Given the description of an element on the screen output the (x, y) to click on. 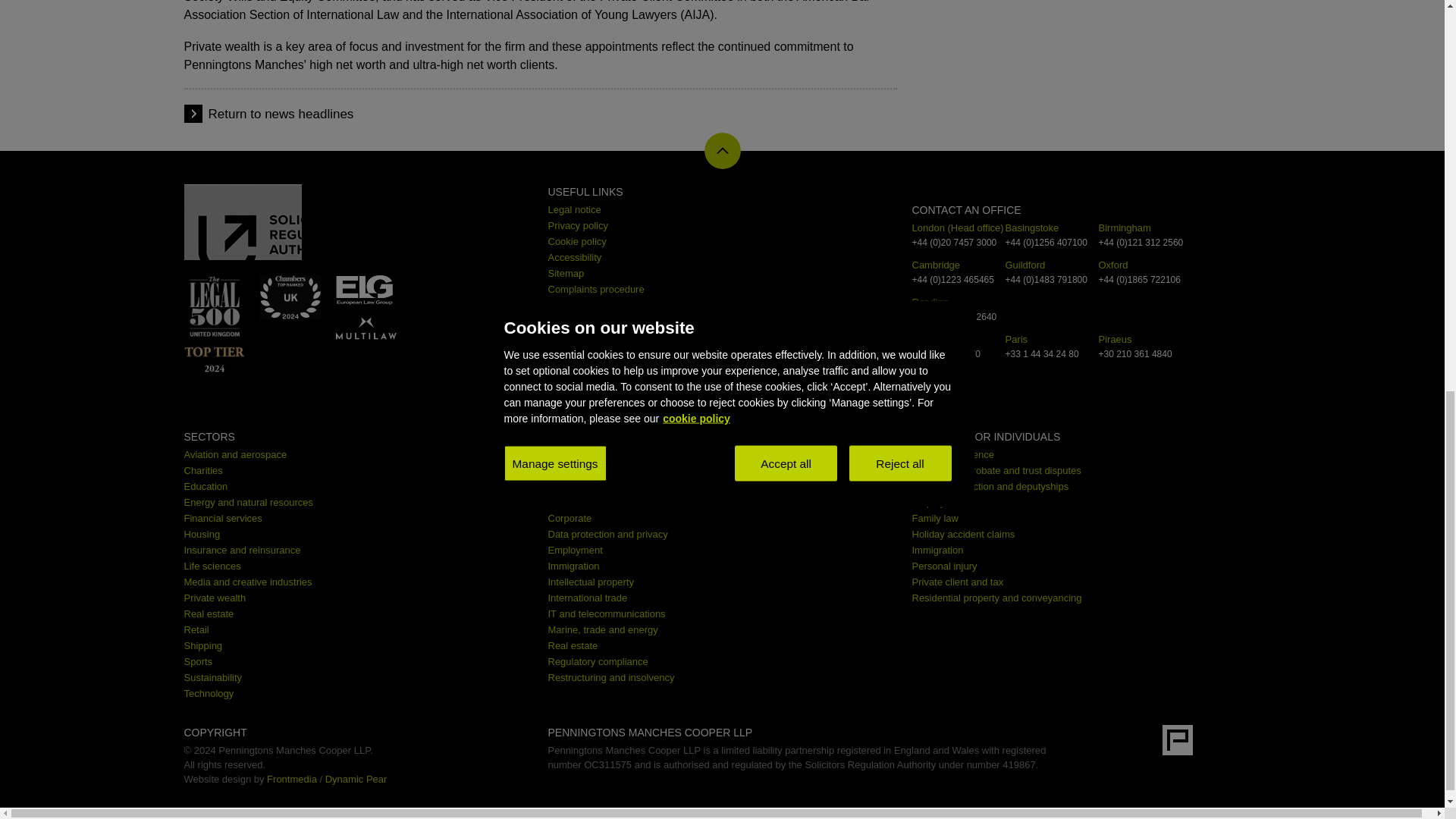
Oxford (1111, 264)
Basingstoke (1032, 227)
Privacy policy (577, 225)
Environmental statement (601, 337)
Legal notice (573, 209)
Accessibility (574, 256)
Cookie policy (576, 241)
Quality statement (585, 305)
Modern slavery statement (604, 320)
Sitemap (565, 273)
Guildford (1025, 264)
Cambridge (935, 264)
Birmingham (1123, 227)
Return to news headlines (280, 114)
Complaints procedure (595, 288)
